Given the description of an element on the screen output the (x, y) to click on. 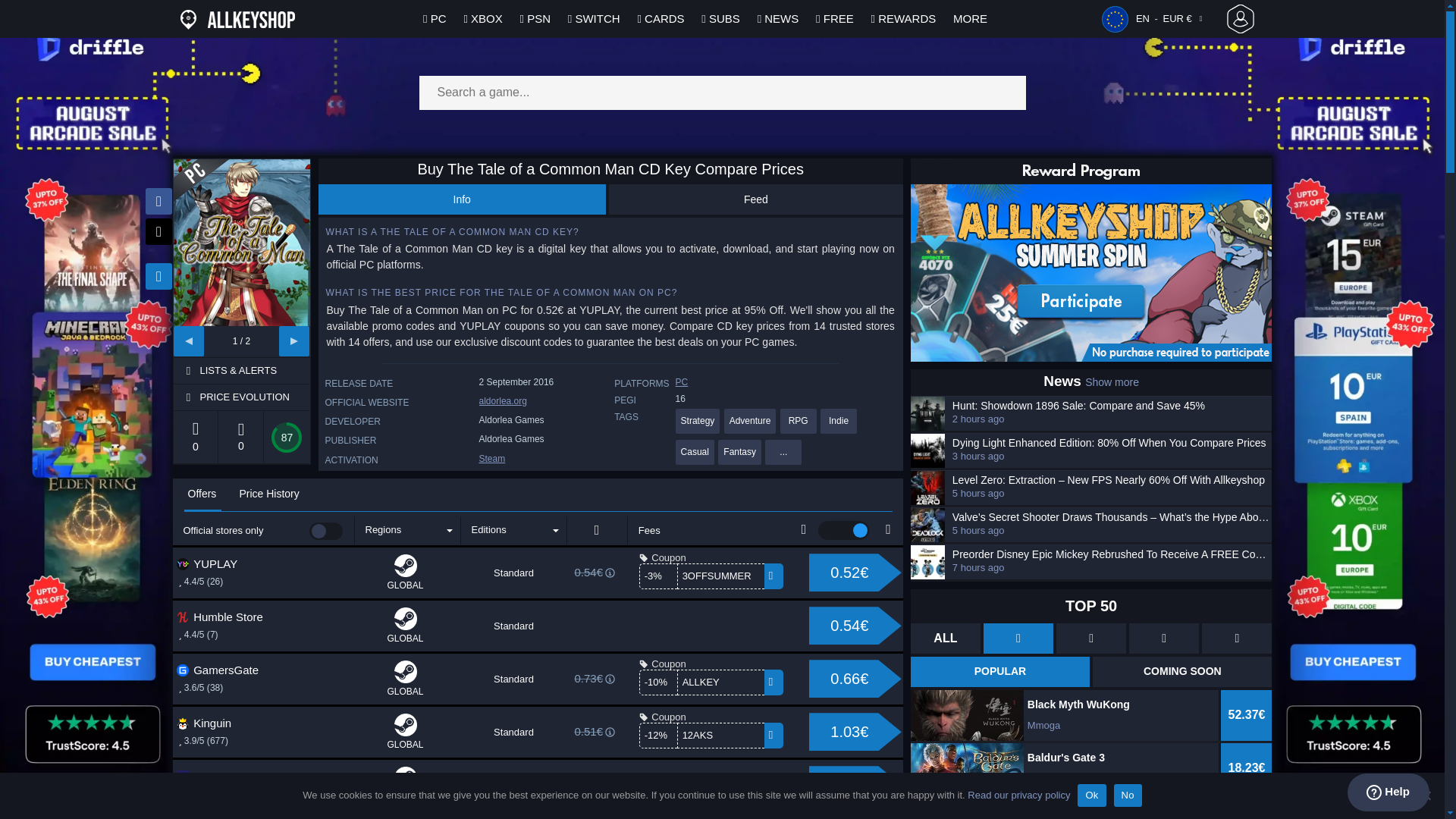
PSN (535, 18)
XBOX (482, 18)
Humble Store (236, 617)
3OFFSUMMER (720, 575)
Steam keys (492, 458)
Price evolution (252, 396)
SWITCH (594, 18)
YUPLAY (236, 564)
GamersGate (236, 670)
